Given the description of an element on the screen output the (x, y) to click on. 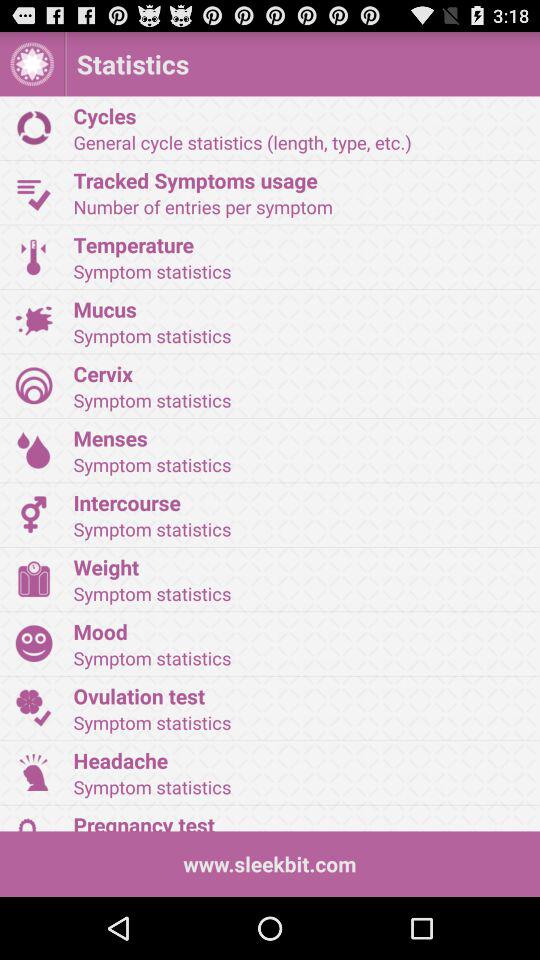
flip until the mucus (299, 308)
